Given the description of an element on the screen output the (x, y) to click on. 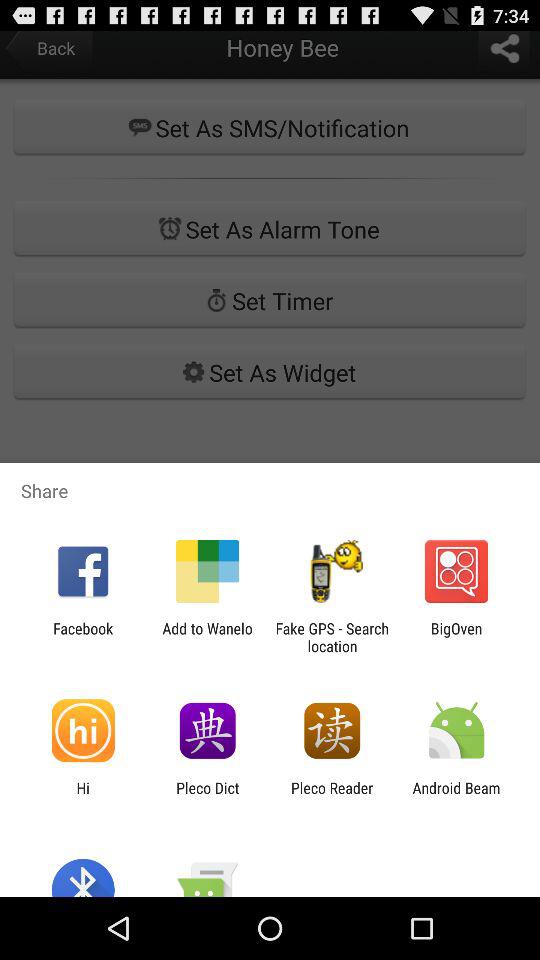
click icon next to fake gps search (456, 637)
